Given the description of an element on the screen output the (x, y) to click on. 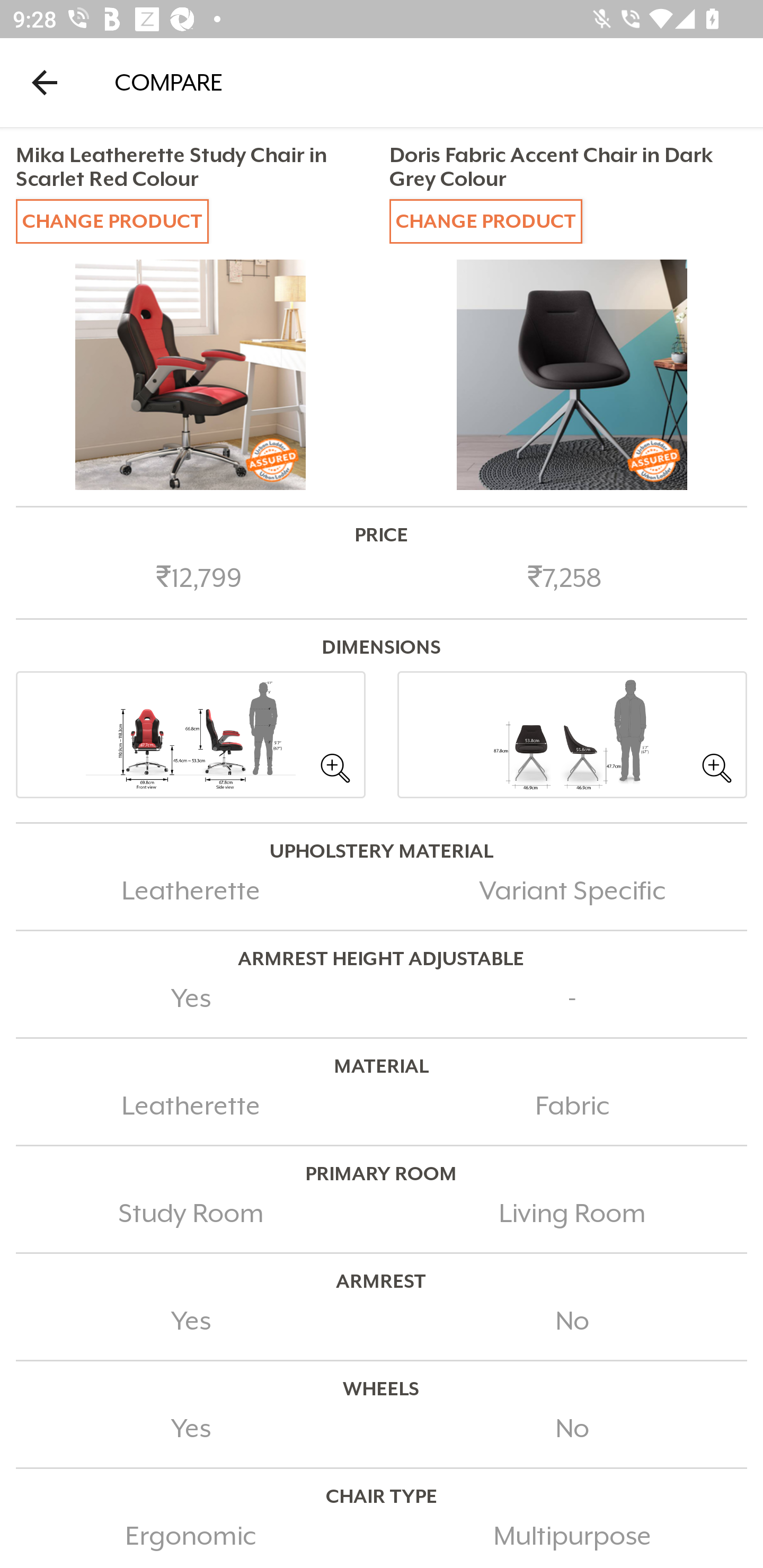
Navigate up (44, 82)
CHANGE PRODUCT (112, 221)
CHANGE PRODUCT (485, 221)
